Given the description of an element on the screen output the (x, y) to click on. 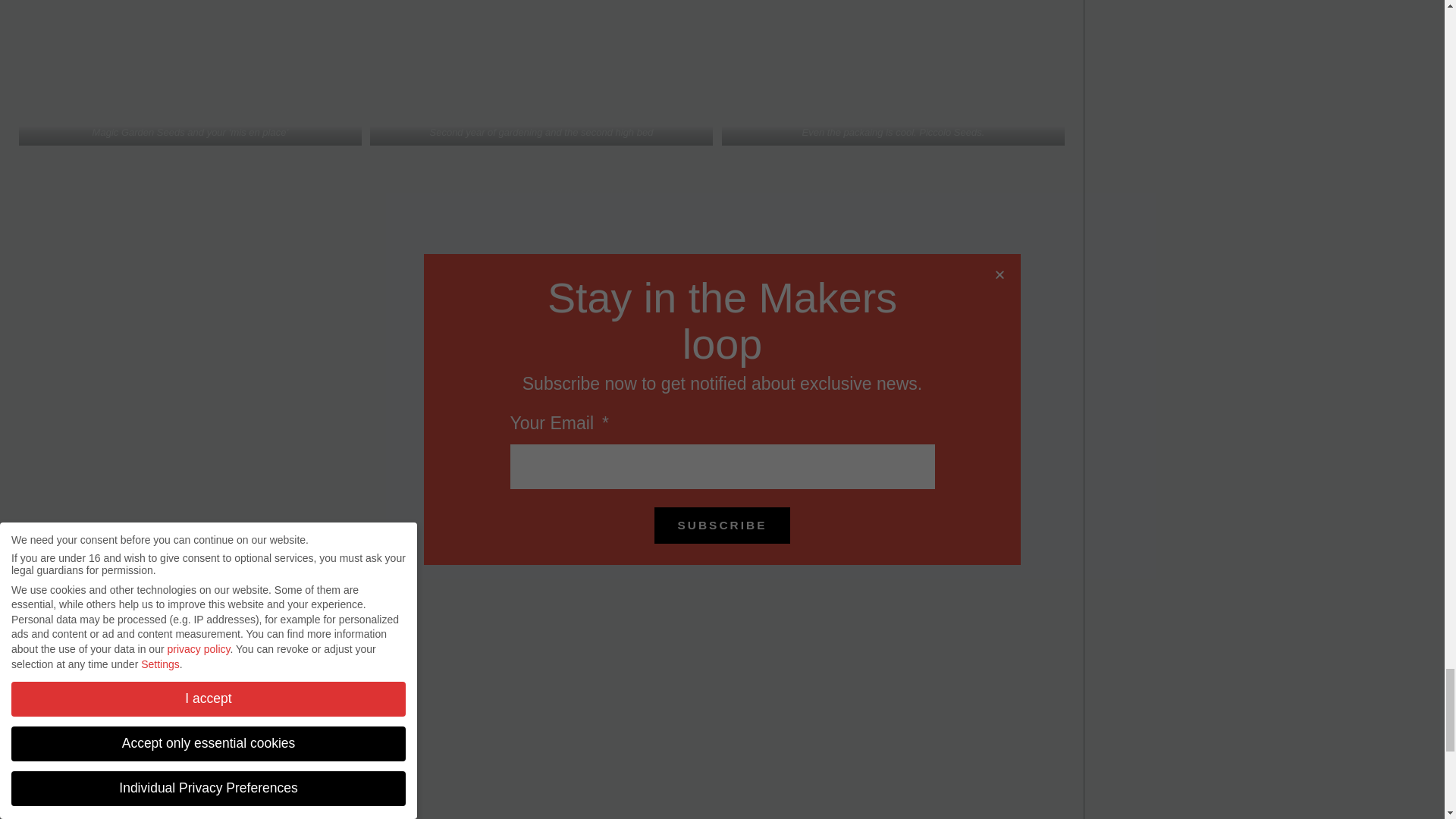
Piccolo Seeds (949, 132)
Magic Garden Seeds (138, 132)
